Given the description of an element on the screen output the (x, y) to click on. 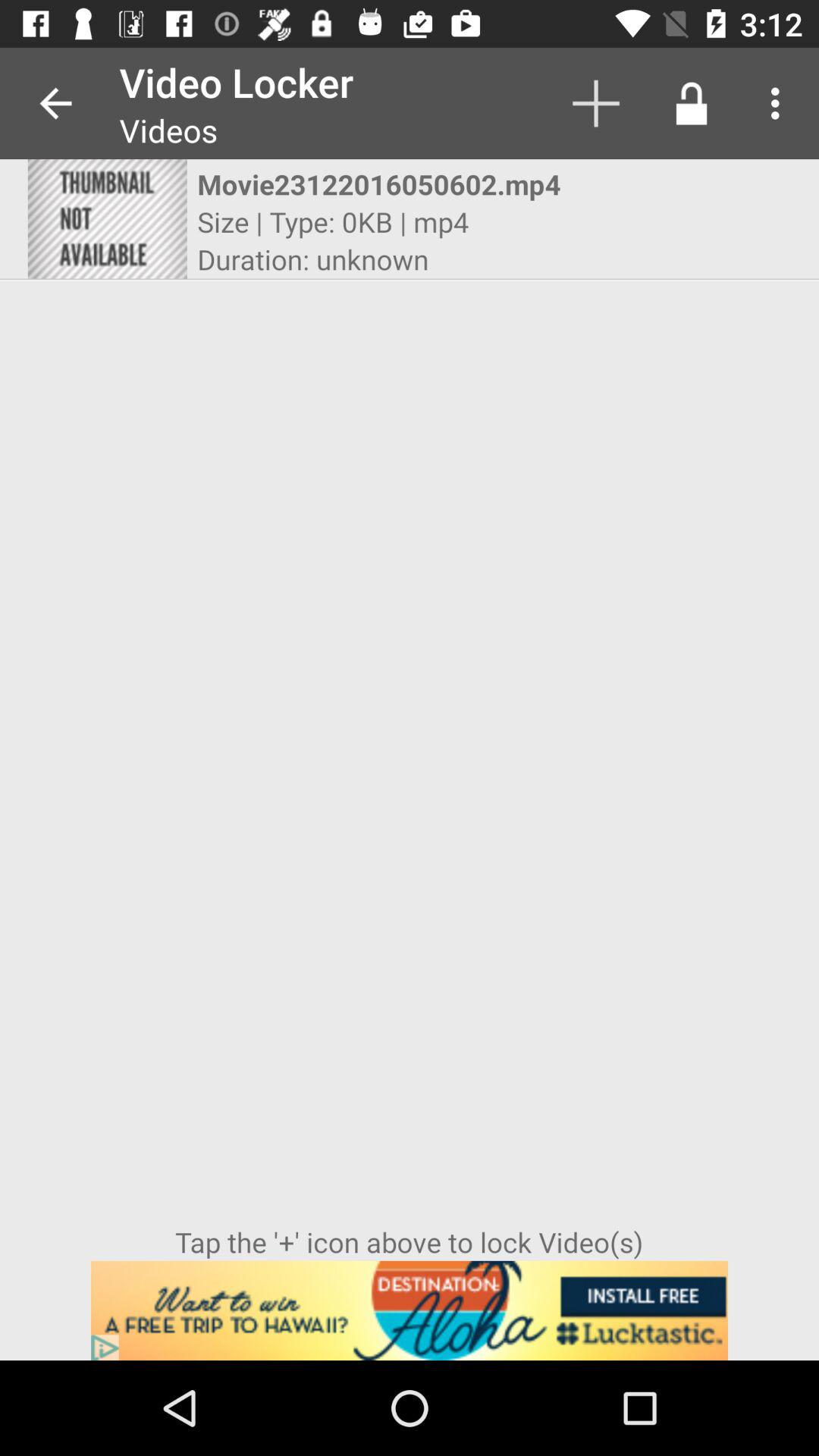
flip to the movie23122016050602.mp4 item (396, 184)
